Given the description of an element on the screen output the (x, y) to click on. 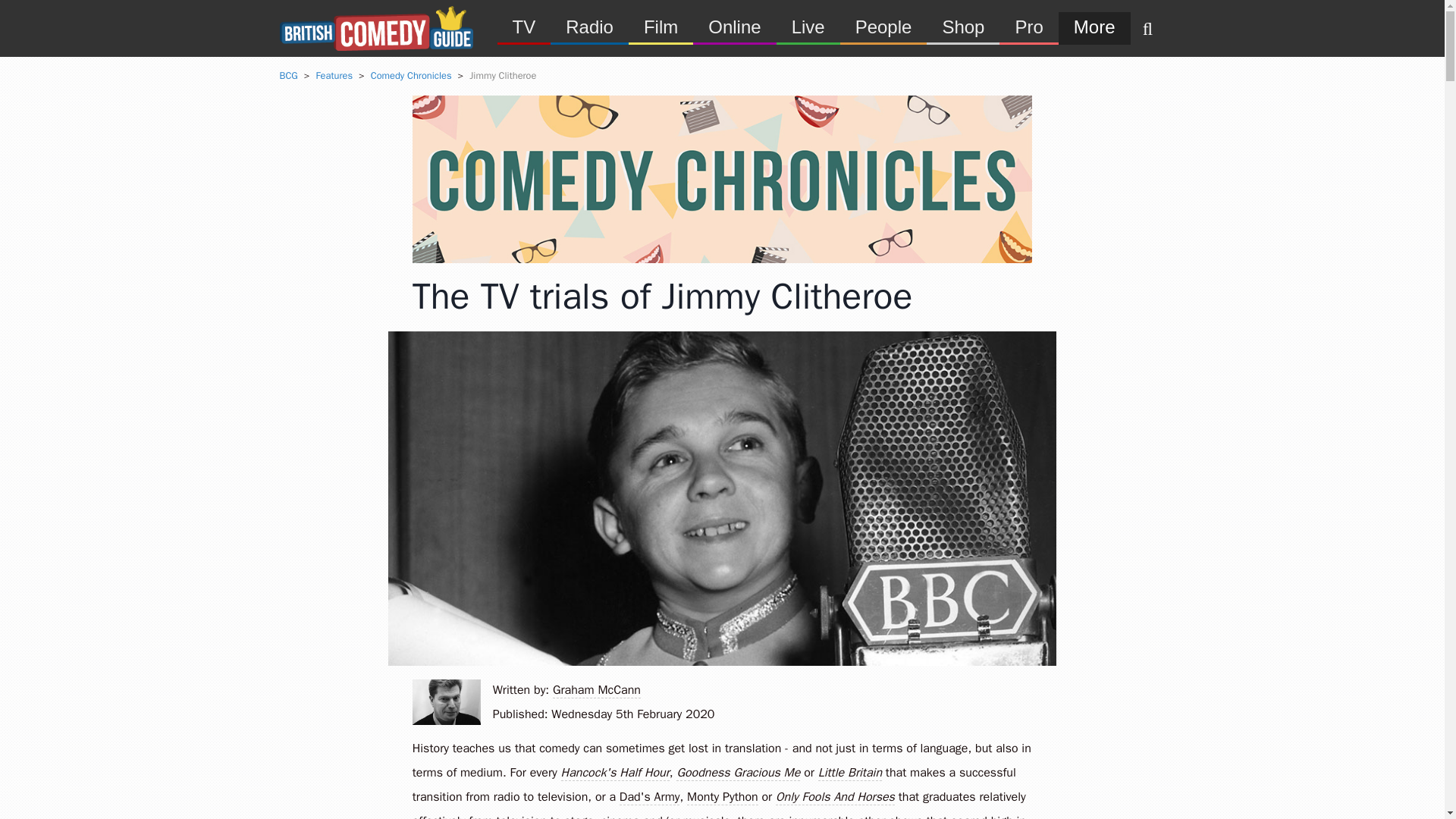
Goodness Gracious Me (738, 773)
Live (812, 27)
Hancock's Half Hour (614, 773)
Film (664, 27)
Shop (966, 27)
Little Britain (850, 773)
Comedy Chronicles (411, 76)
BCG (288, 76)
Features (333, 76)
Dad's Army (649, 797)
